Given the description of an element on the screen output the (x, y) to click on. 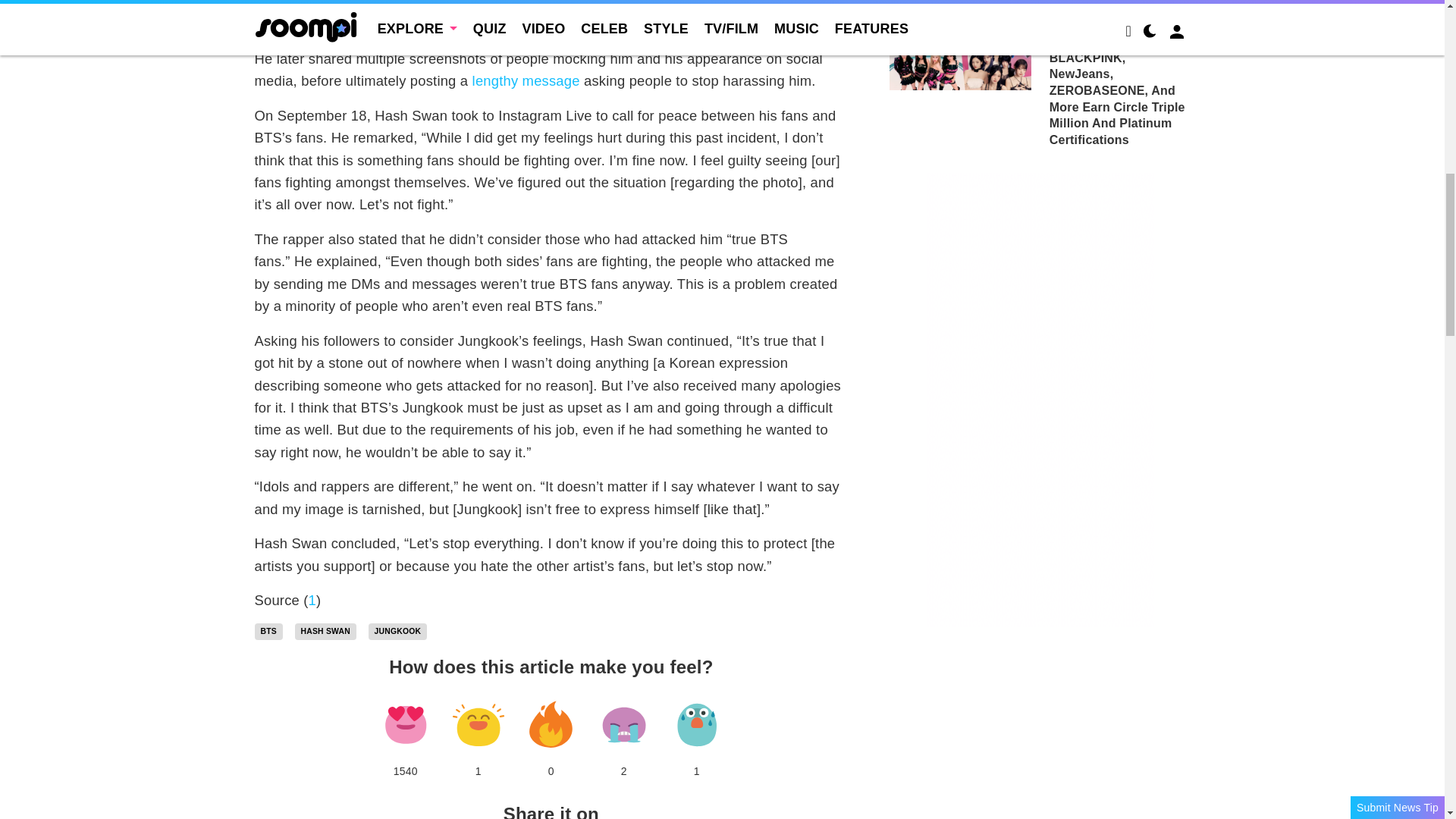
LOL (478, 724)
Fire (550, 724)
lol (478, 724)
OMG (696, 724)
Heart (405, 724)
Hash Swan (325, 631)
Jungkook (398, 631)
lengthy message (525, 80)
BTS (268, 631)
heart (405, 724)
Crying (623, 724)
BTS (268, 631)
1 (311, 600)
JUNGKOOK (398, 631)
HASH SWAN (325, 631)
